Given the description of an element on the screen output the (x, y) to click on. 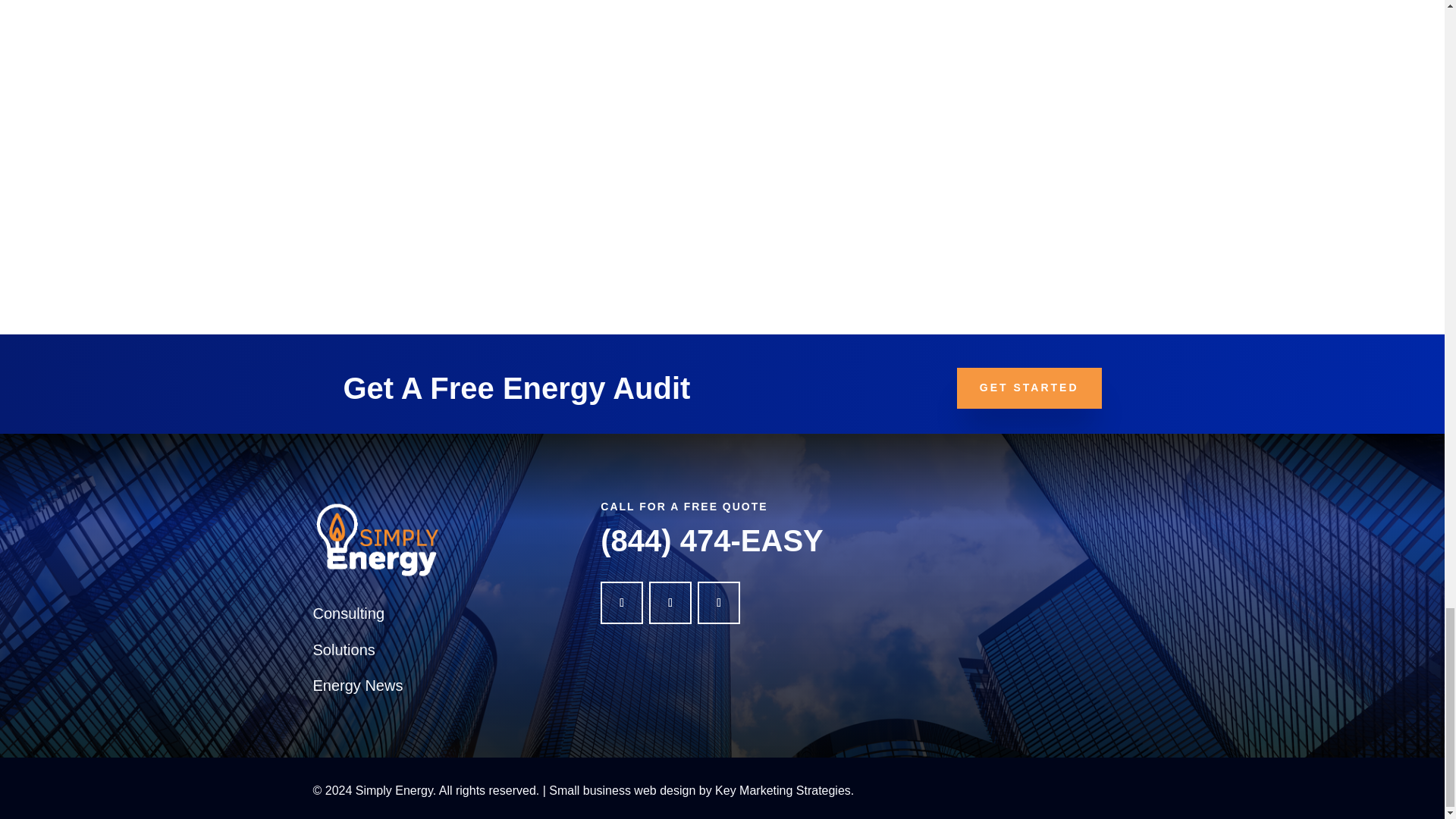
Follow on X (670, 601)
Consulting (348, 613)
Follow on Instagram (718, 601)
Follow on Facebook (621, 601)
Solutions (343, 649)
GET STARTED (1029, 387)
